Given the description of an element on the screen output the (x, y) to click on. 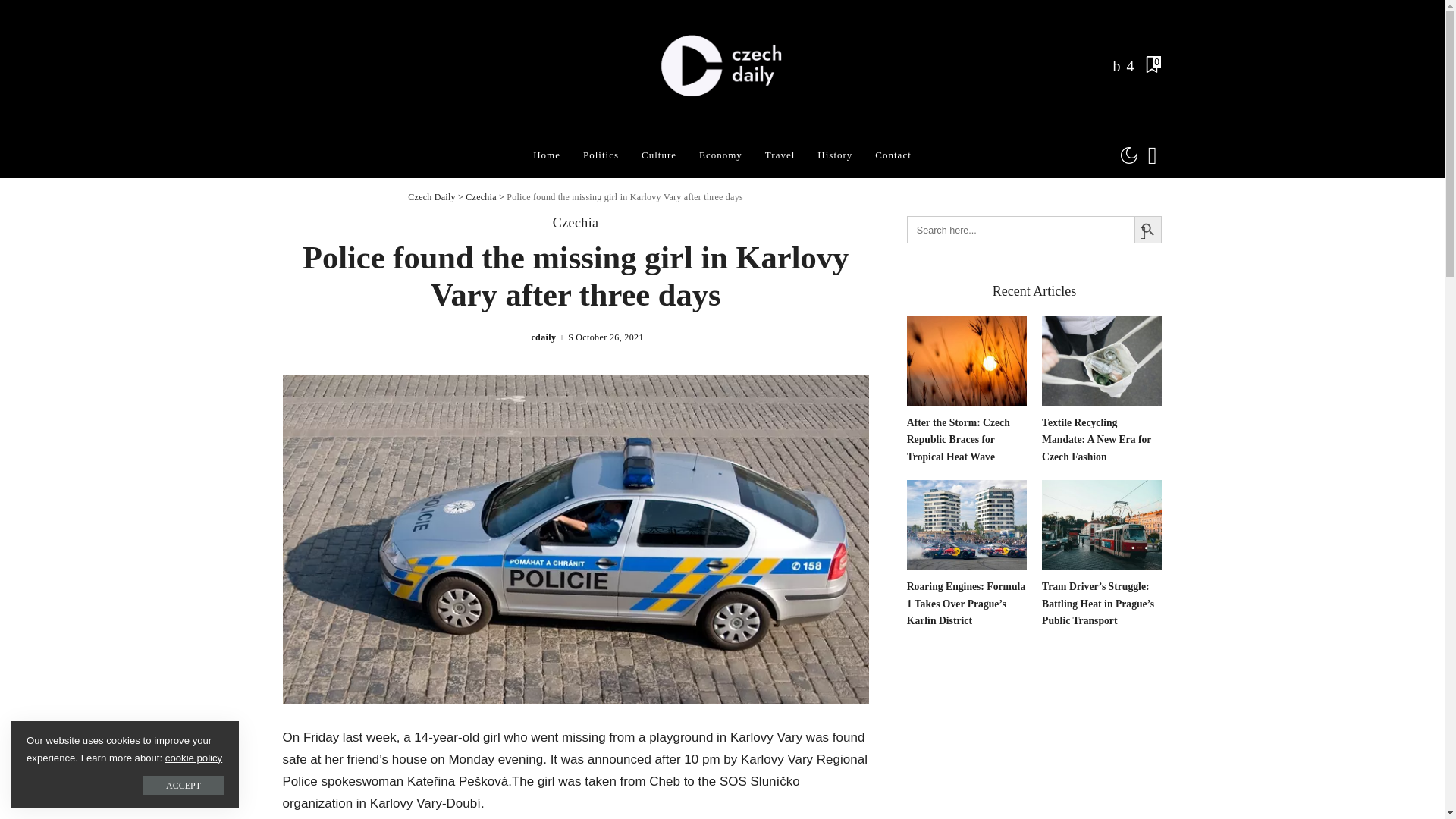
Politics (601, 155)
Go to the Czechia category archives. (480, 196)
Contact (892, 155)
History (834, 155)
Home (546, 155)
Travel (780, 155)
Go to Czech Daily. (430, 196)
Czech Daily (722, 66)
Culture (658, 155)
Economy (720, 155)
